Given the description of an element on the screen output the (x, y) to click on. 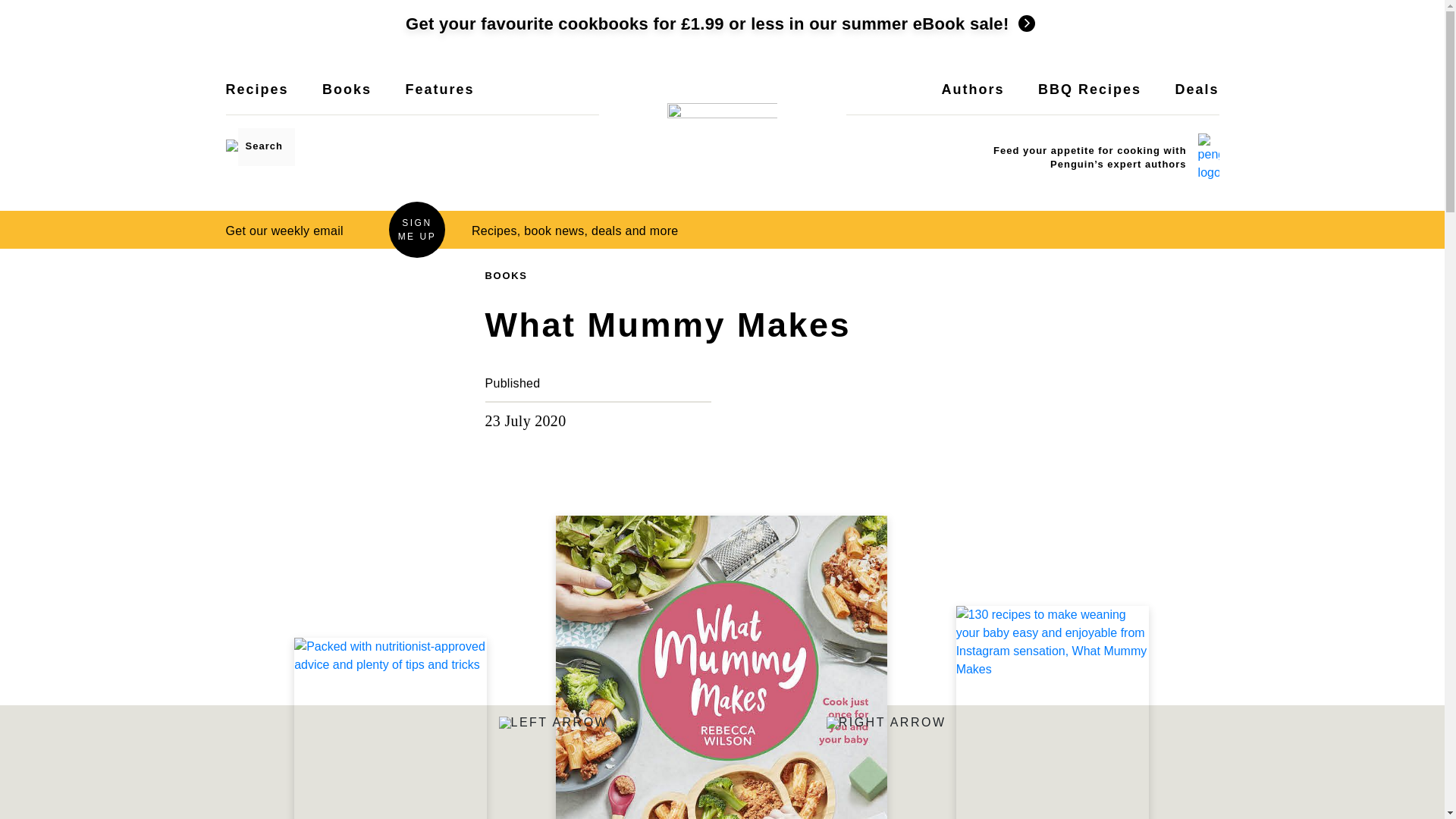
Features (439, 98)
Authors (973, 98)
Books (346, 98)
Recipes (256, 98)
BBQ Recipes (1089, 98)
Deals (1196, 98)
